Given the description of an element on the screen output the (x, y) to click on. 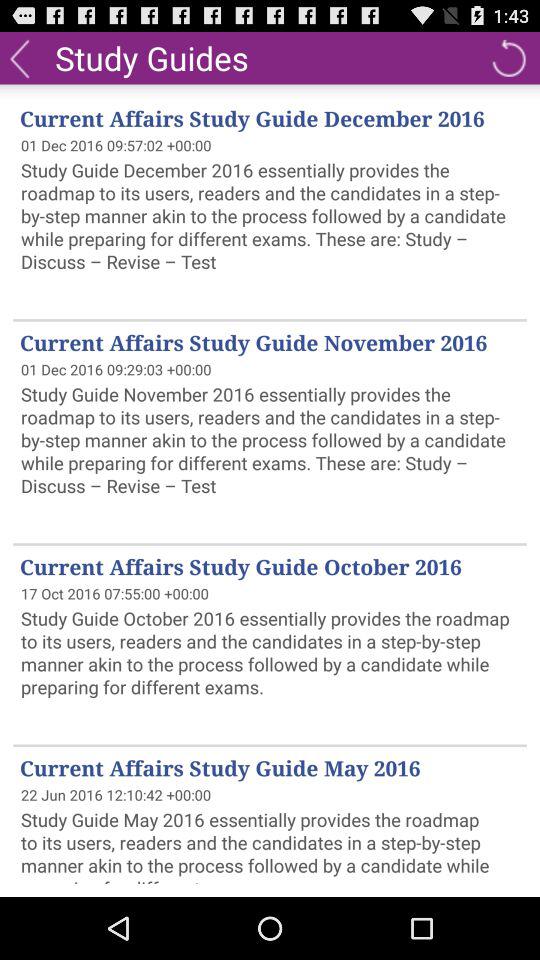
click the app next to the study guides app (19, 57)
